Given the description of an element on the screen output the (x, y) to click on. 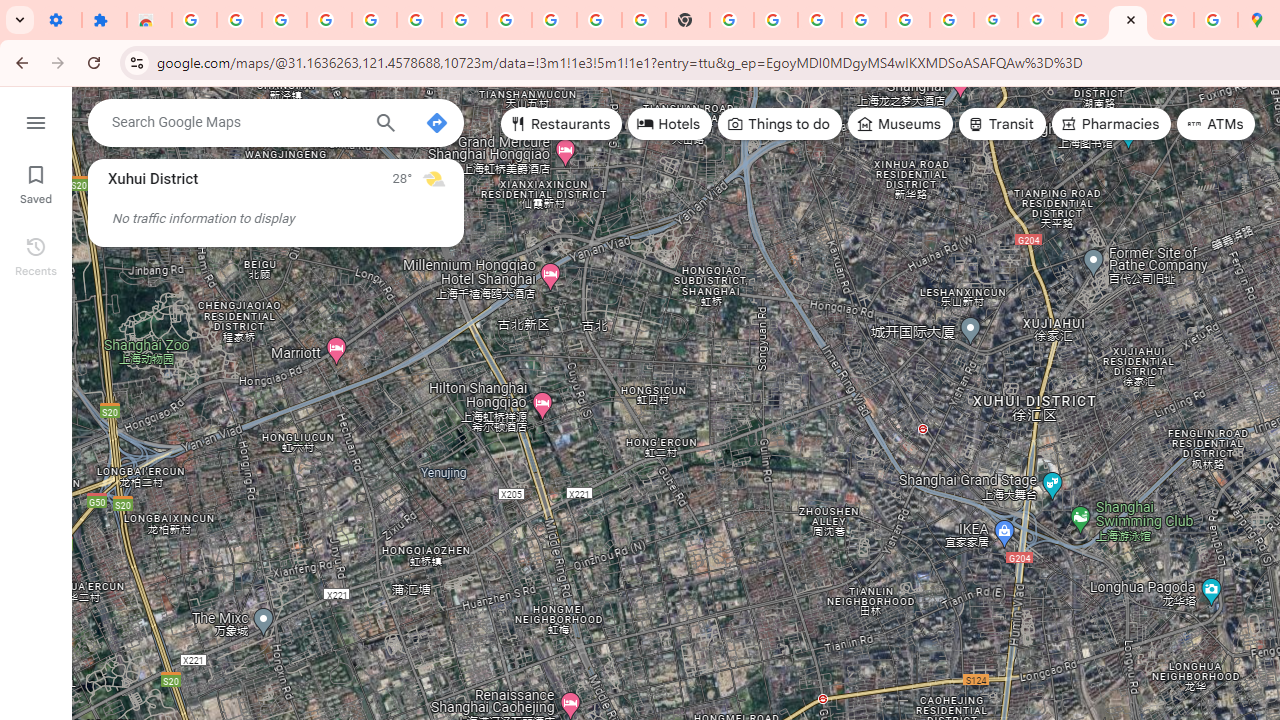
Pharmacies (1111, 124)
Sign in - Google Accounts (464, 20)
Extensions (103, 20)
Delete photos & videos - Computer - Google Photos Help (329, 20)
Restaurants (561, 124)
YouTube (599, 20)
Transit (1001, 124)
Learn how to find your photos - Google Photos Help (374, 20)
ATMs (1216, 124)
Recents (35, 254)
